Given the description of an element on the screen output the (x, y) to click on. 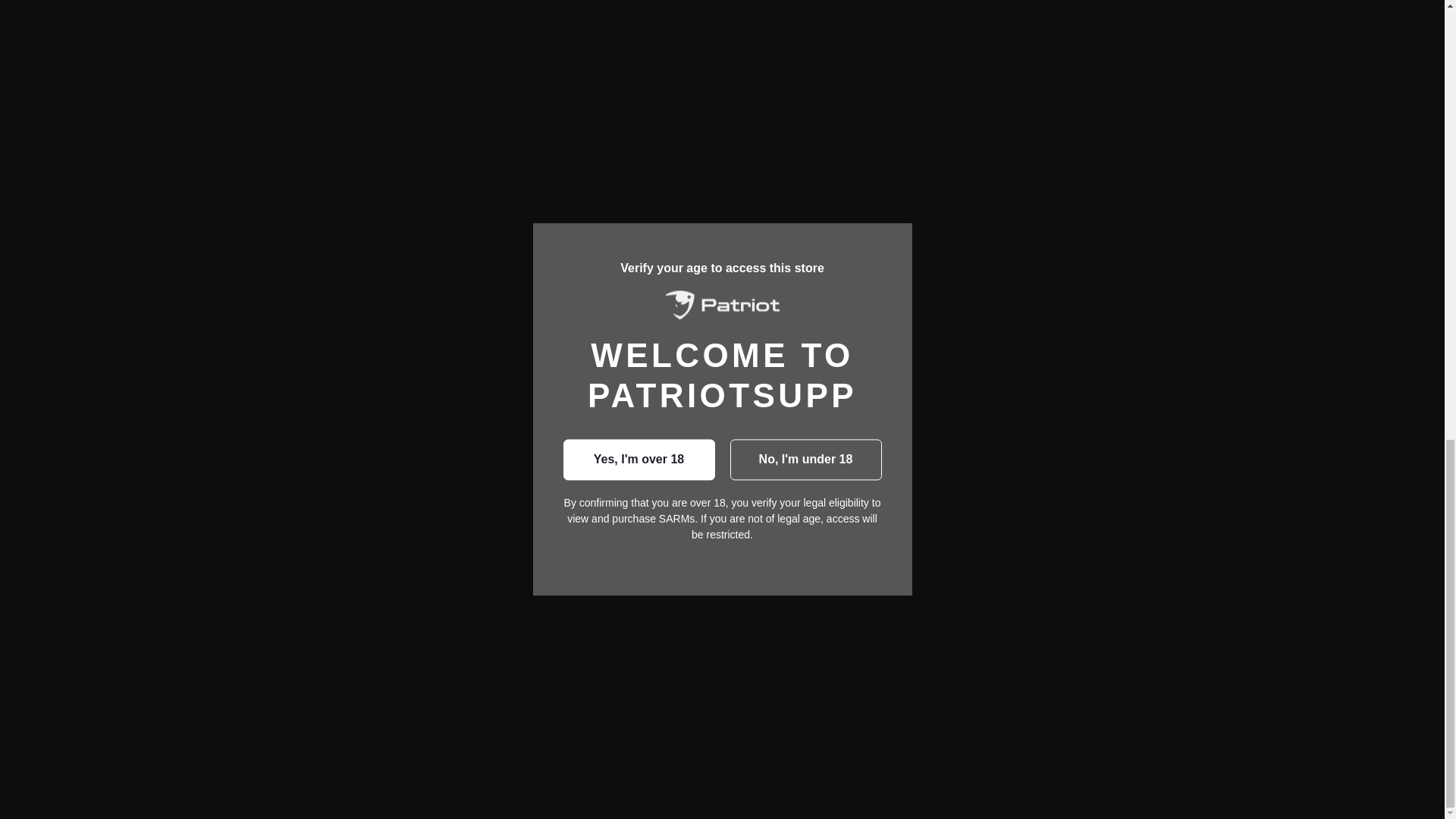
research purposes (849, 22)
chemical substances (922, 6)
21CFR (914, 138)
